Given the description of an element on the screen output the (x, y) to click on. 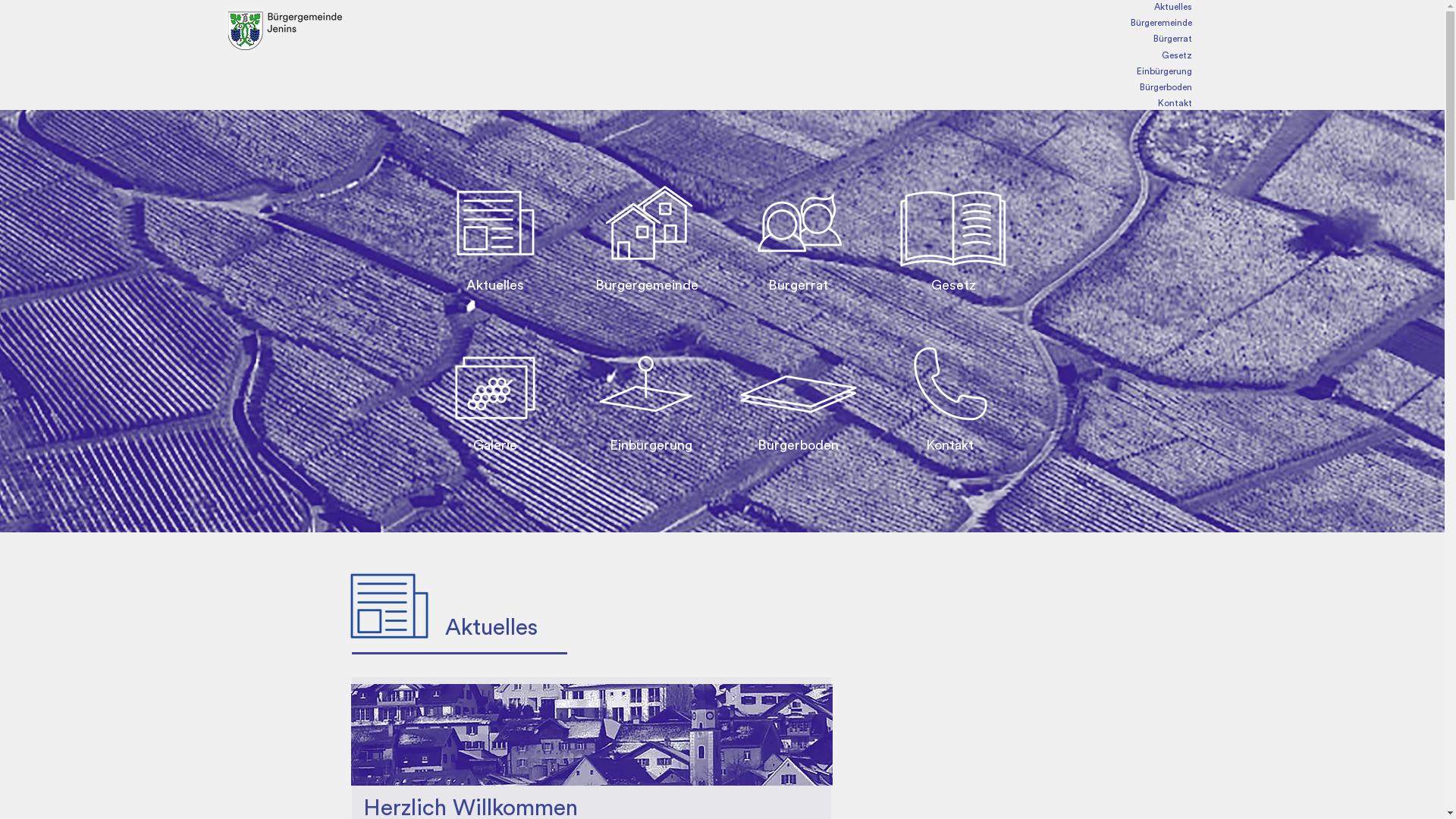
Kontakt Element type: text (1038, 103)
Gesetz Element type: text (1038, 55)
Aktuelles Element type: text (1038, 6)
